Given the description of an element on the screen output the (x, y) to click on. 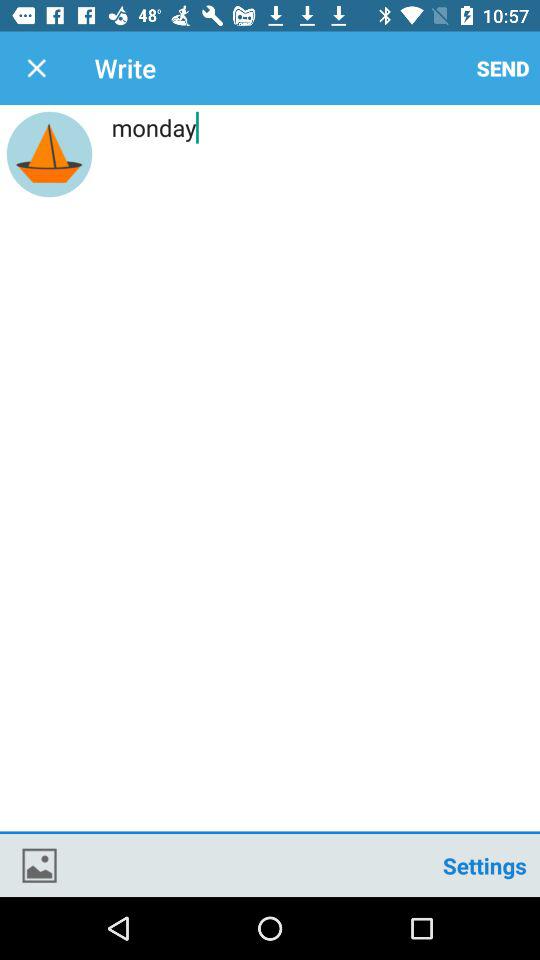
press the monday at the center (270, 471)
